Given the description of an element on the screen output the (x, y) to click on. 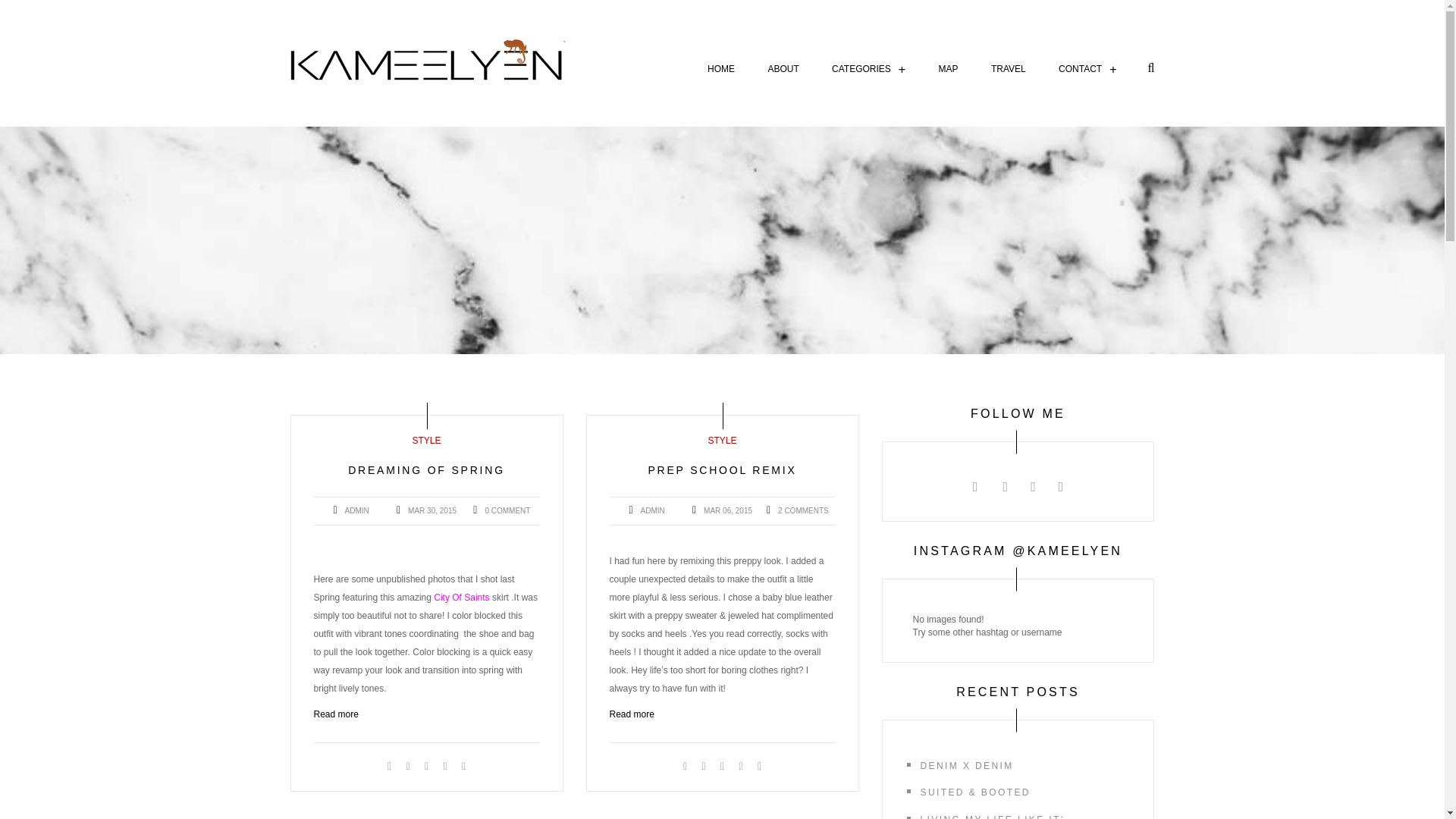
MAP (948, 68)
STYLE (721, 439)
City Of Saints (461, 597)
2 COMMENTS (802, 510)
ADMIN (652, 510)
ABOUT (782, 68)
CATEGORIES (868, 68)
HOME (721, 68)
PREP SCHOOL REMIX (631, 714)
STYLE (721, 469)
TRAVEL (426, 439)
MAR 06, 2015 (1008, 68)
MAR 30, 2015 (727, 510)
